Given the description of an element on the screen output the (x, y) to click on. 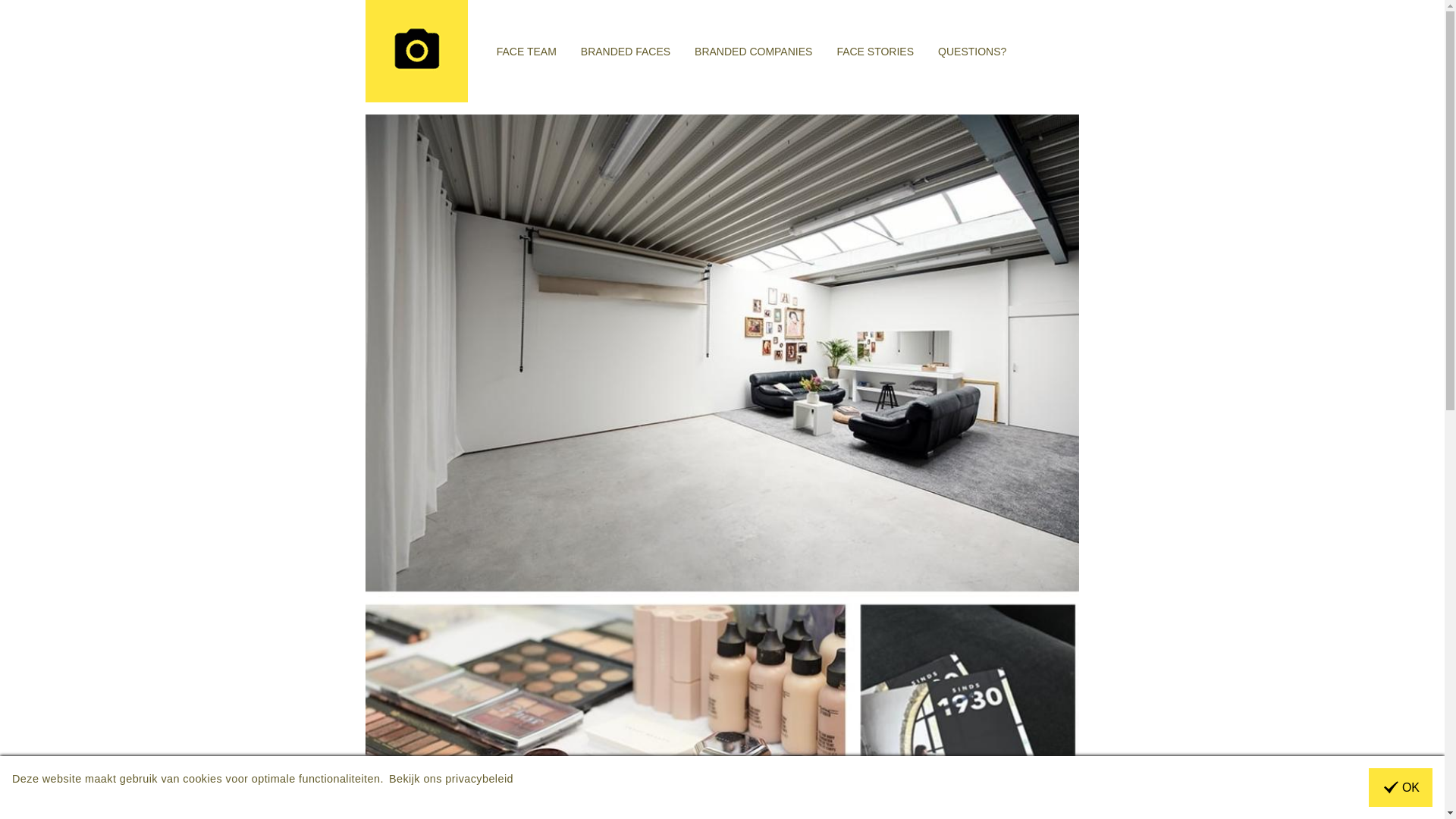
 OK Element type: text (1400, 787)
Bekijk ons privacybeleid Element type: text (451, 778)
BRANDED COMPANIES Element type: text (753, 50)
FACE STORIES Element type: text (874, 50)
BRANDED FACES Element type: text (625, 50)
QUESTIONS? Element type: text (971, 50)
FACE TEAM Element type: text (526, 50)
Homepage Brand Your Face Element type: hover (424, 51)
